Given the description of an element on the screen output the (x, y) to click on. 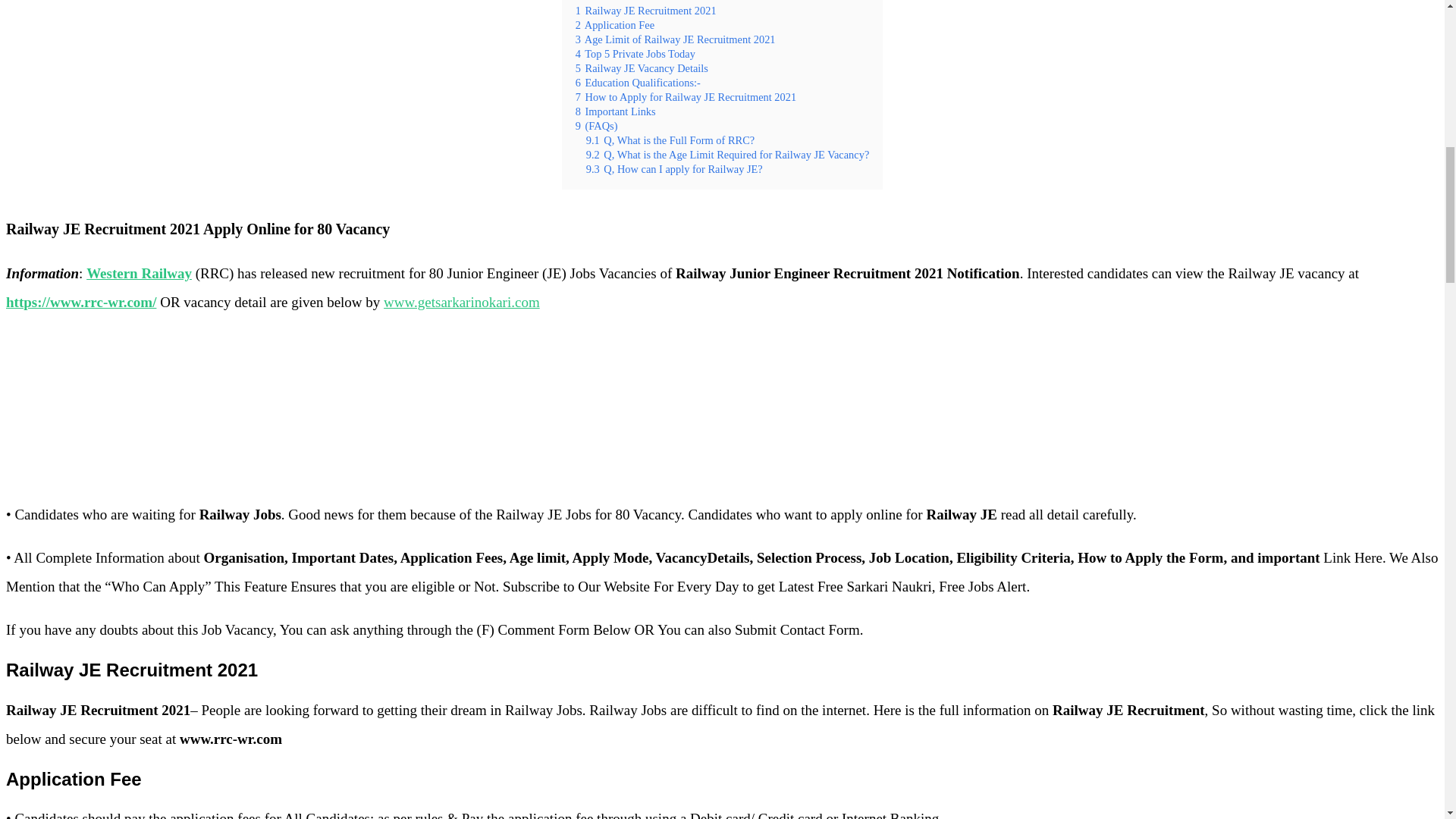
3 Age Limit of Railway JE Recruitment 2021 (675, 39)
9.3 Q, How can I apply for Railway JE? (674, 168)
9.1 Q, What is the Full Form of RRC? (670, 140)
8 Important Links (615, 111)
4 Top 5 Private Jobs Today (635, 53)
1 Railway JE Recruitment 2021 (645, 10)
5 Railway JE Vacancy Details (641, 68)
www.getsarkarinokari.com (462, 302)
6 Education Qualifications:- (637, 82)
